Given the description of an element on the screen output the (x, y) to click on. 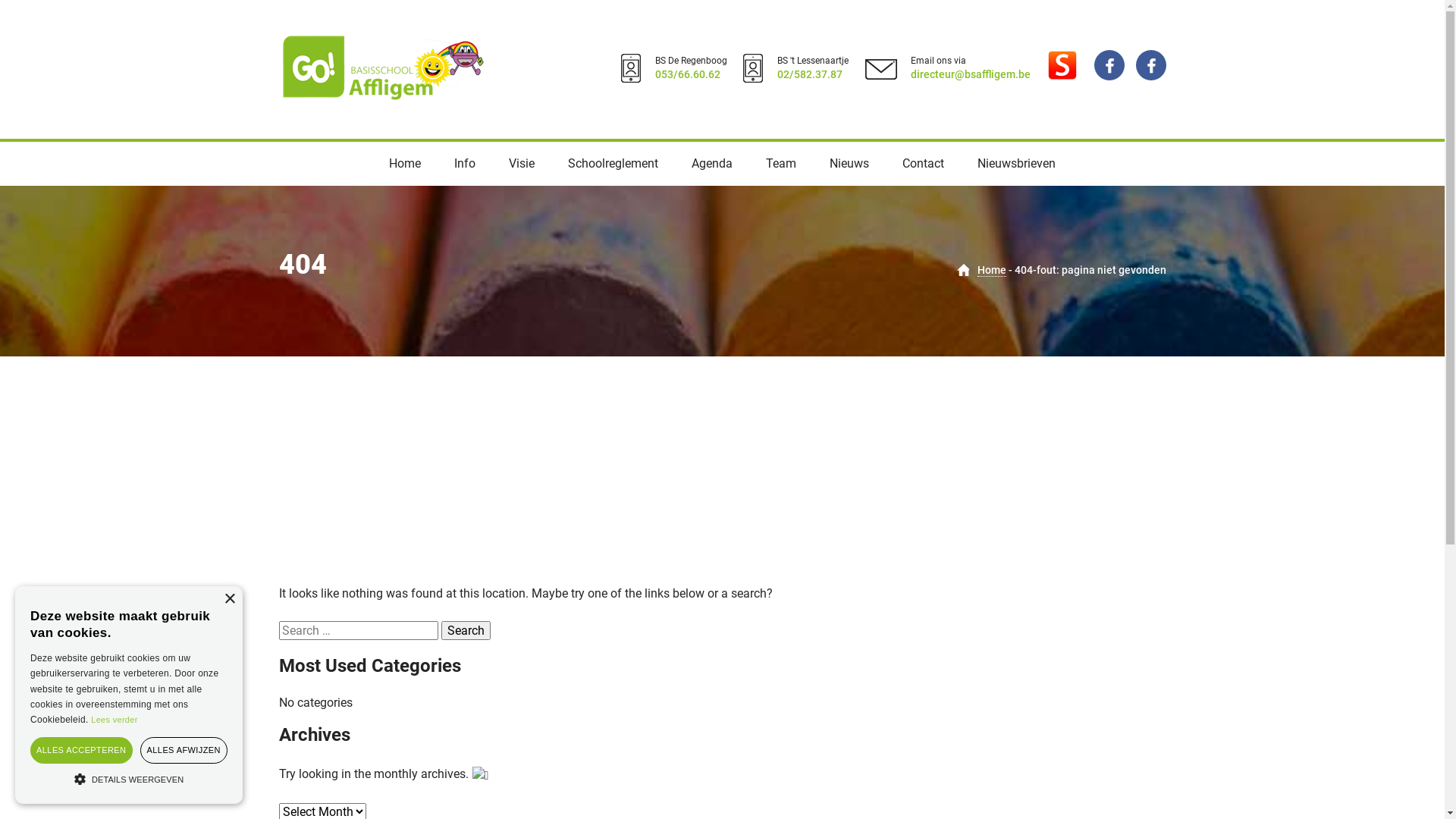
Info Element type: text (464, 163)
Lees verder Element type: text (114, 719)
Home Element type: text (404, 163)
Visie Element type: text (521, 163)
Nieuwsbrieven Element type: text (1016, 163)
02/582.37.87 Element type: text (808, 74)
Schoolreglement Element type: text (612, 163)
053/66.60.62 Element type: text (687, 74)
Agenda Element type: text (711, 163)
Search Element type: text (465, 630)
Nieuws Element type: text (849, 163)
Home Element type: text (990, 269)
Team Element type: text (780, 163)
directeur@bsaffligem.be Element type: text (969, 74)
Contact Element type: text (923, 163)
